Given the description of an element on the screen output the (x, y) to click on. 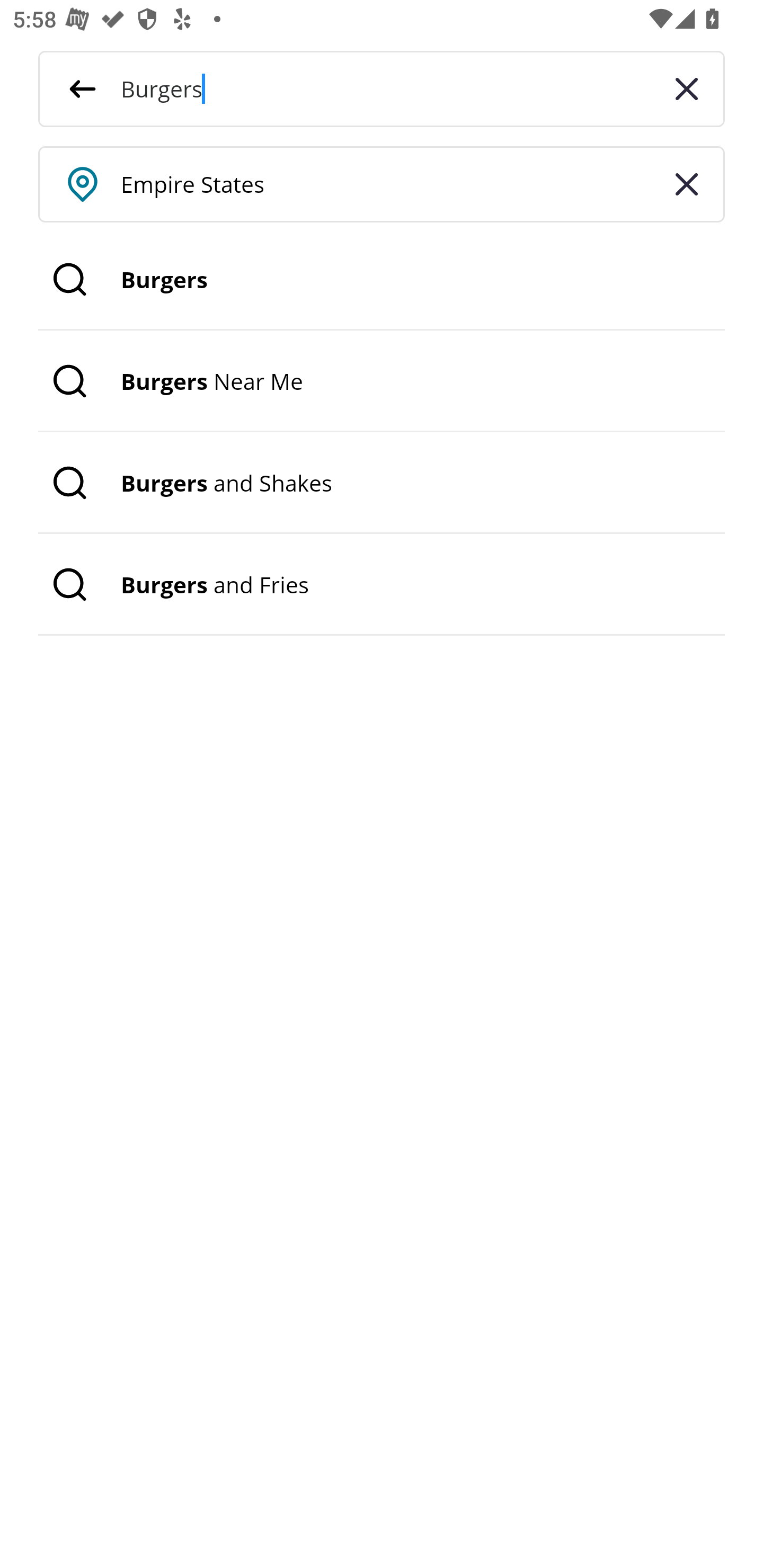
Burgers (381, 279)
